Given the description of an element on the screen output the (x, y) to click on. 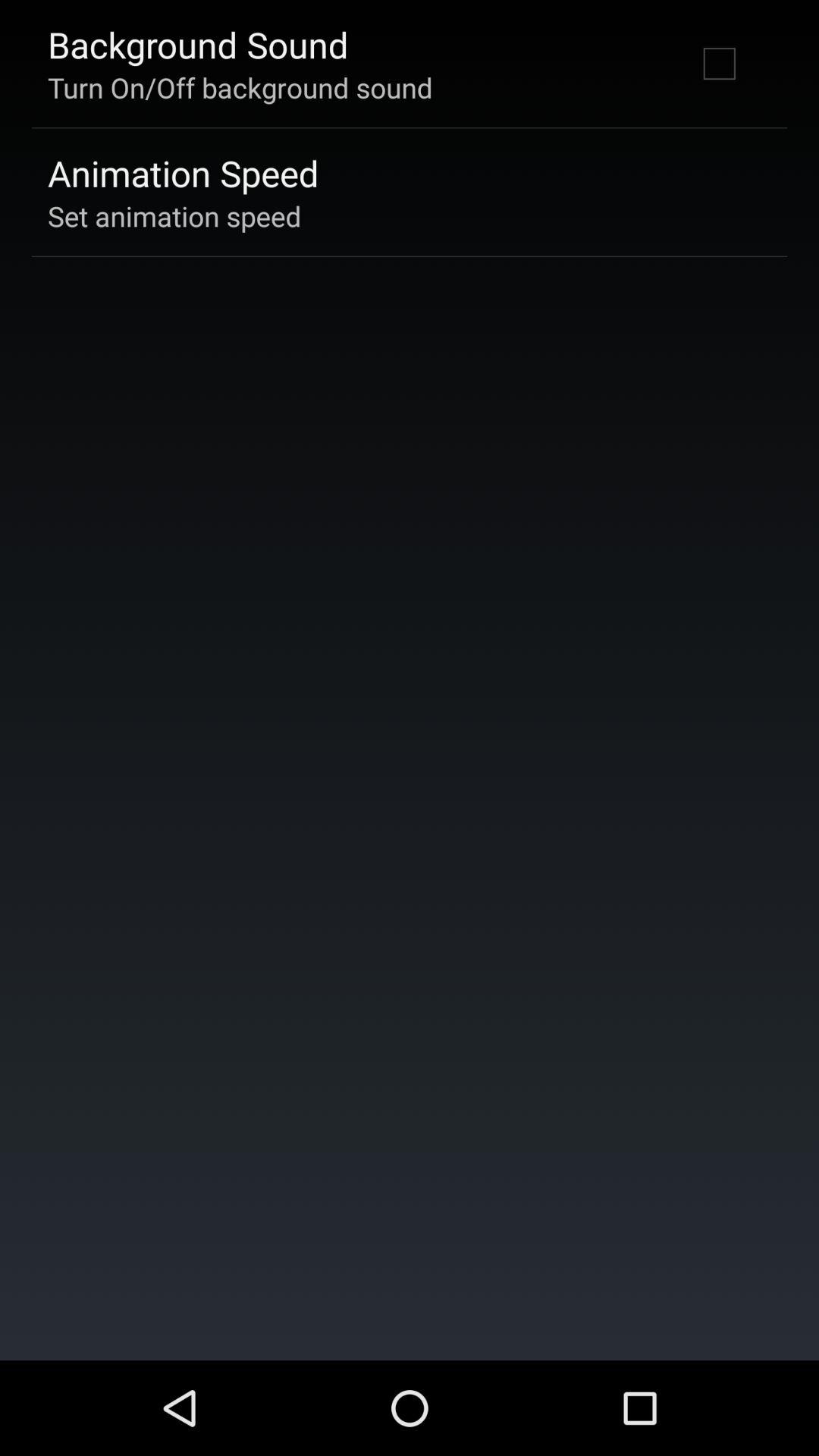
turn off the turn on off app (239, 87)
